Given the description of an element on the screen output the (x, y) to click on. 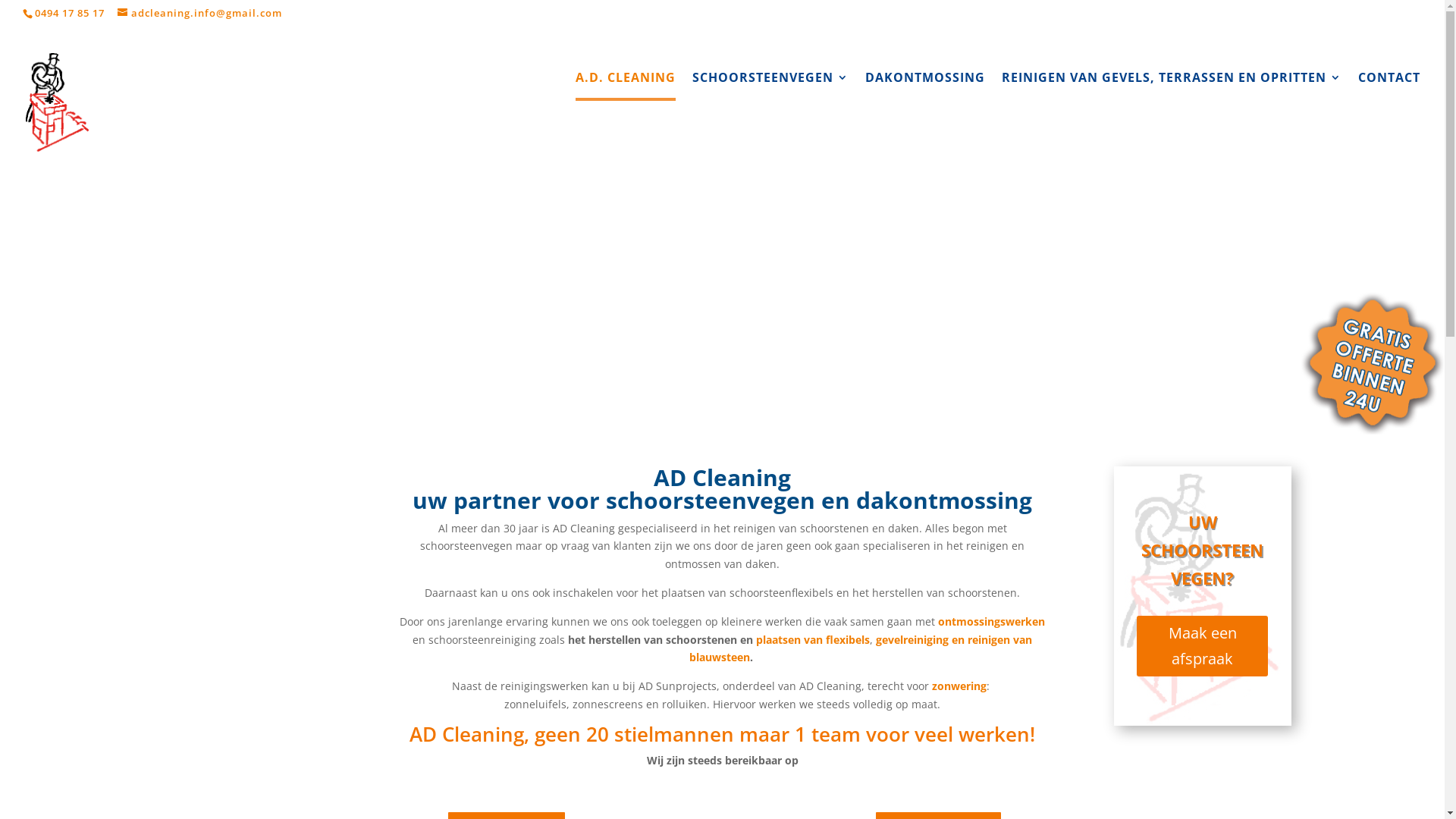
ontmossingswerken Element type: text (991, 621)
REINIGEN VAN GEVELS, TERRASSEN EN OPRITTEN Element type: text (1171, 101)
A.D. CLEANING Element type: text (625, 86)
UW SCHOORSTEEN VEGEN? Element type: text (1202, 549)
adcleaning.info@gmail.com Element type: text (199, 12)
plaatsen van flexibels Element type: text (812, 639)
zonwering Element type: text (958, 685)
sticker2 Element type: hover (1372, 362)
SCHOORSTEENVEGEN Element type: text (770, 101)
CONTACT Element type: text (1389, 101)
0494 17 85 17 Element type: text (69, 12)
Maak een afspraak Element type: text (1201, 645)
gevelreiniging en reinigen van blauwsteen Element type: text (861, 648)
DAKONTMOSSING Element type: text (925, 101)
